Given the description of an element on the screen output the (x, y) to click on. 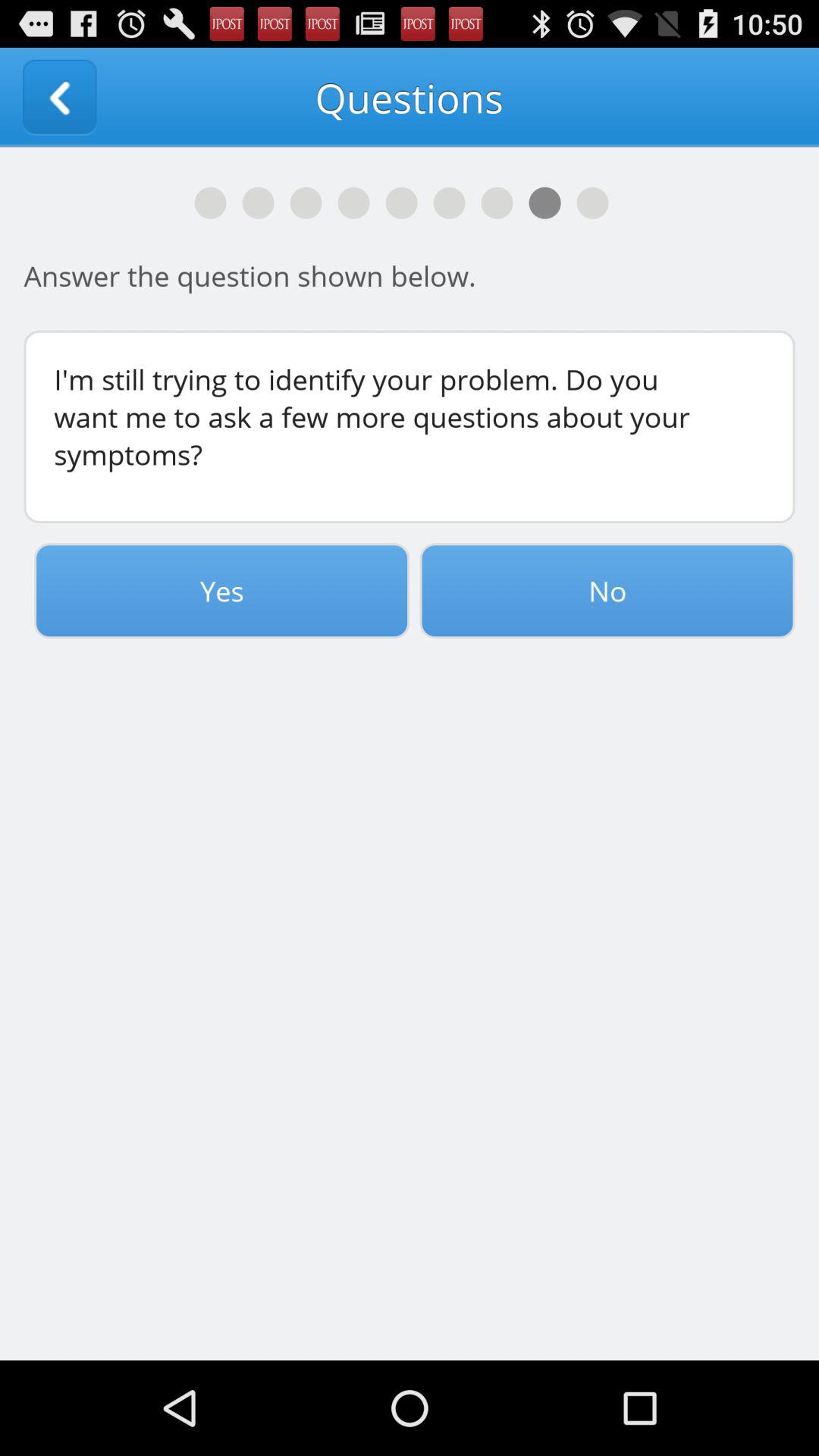
click the button next to yes item (607, 590)
